Given the description of an element on the screen output the (x, y) to click on. 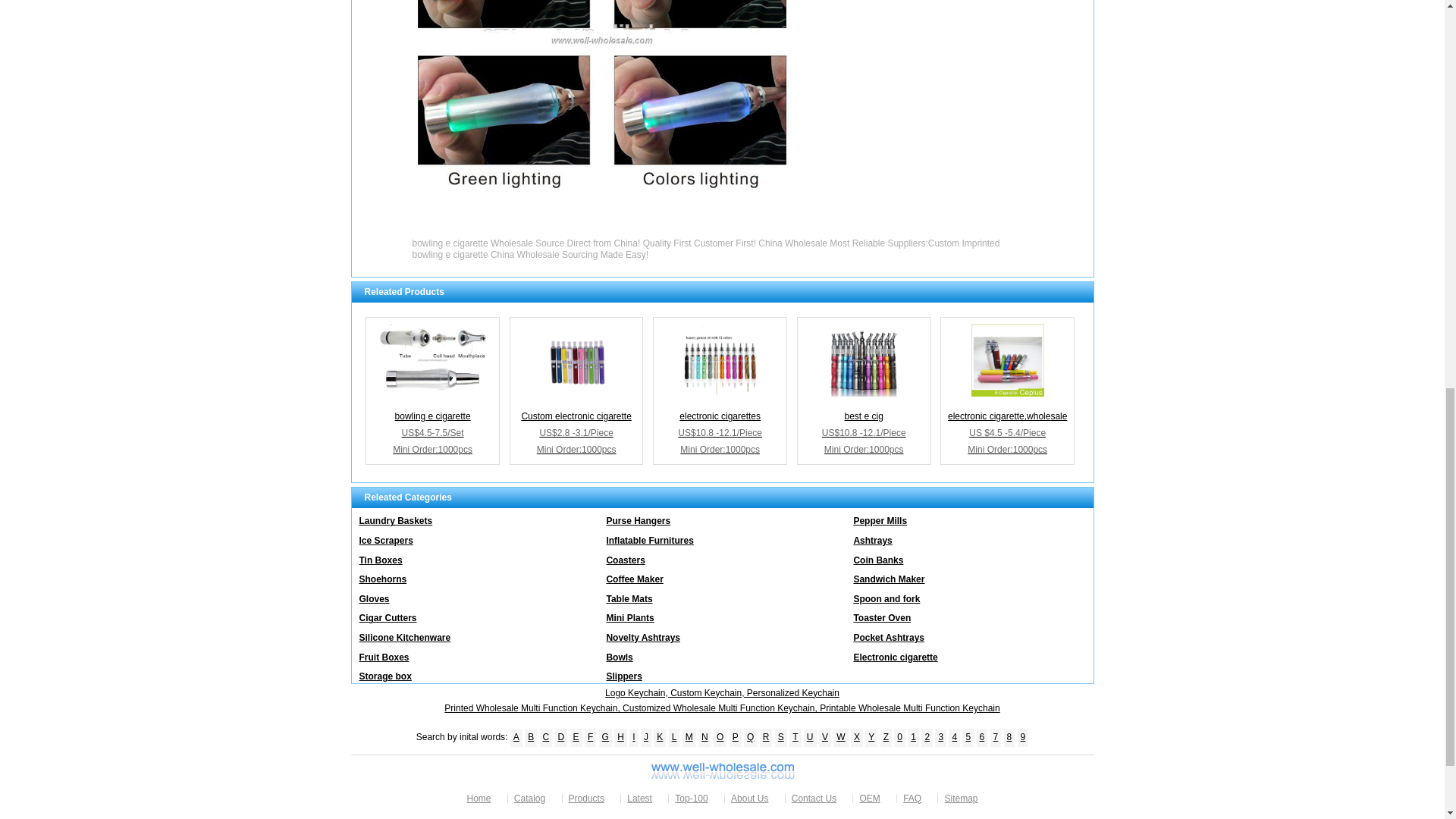
best e cig (863, 390)
Logo Keychain, Custom Keychain, Personalized Keychain (722, 692)
Custom electronic cigarette (576, 359)
electronic cigarettes (719, 390)
Pepper Mills (969, 517)
best e cig (863, 359)
Purse Hangers (721, 517)
Laundry Baskets (475, 517)
Inflatable Furnitures (721, 537)
Custom electronic cigarette (576, 390)
electronic cigarettes (720, 359)
Ice Scrapers (475, 537)
electronic cigarette,wholesale (1007, 359)
bowling e cigarette (432, 359)
